Given the description of an element on the screen output the (x, y) to click on. 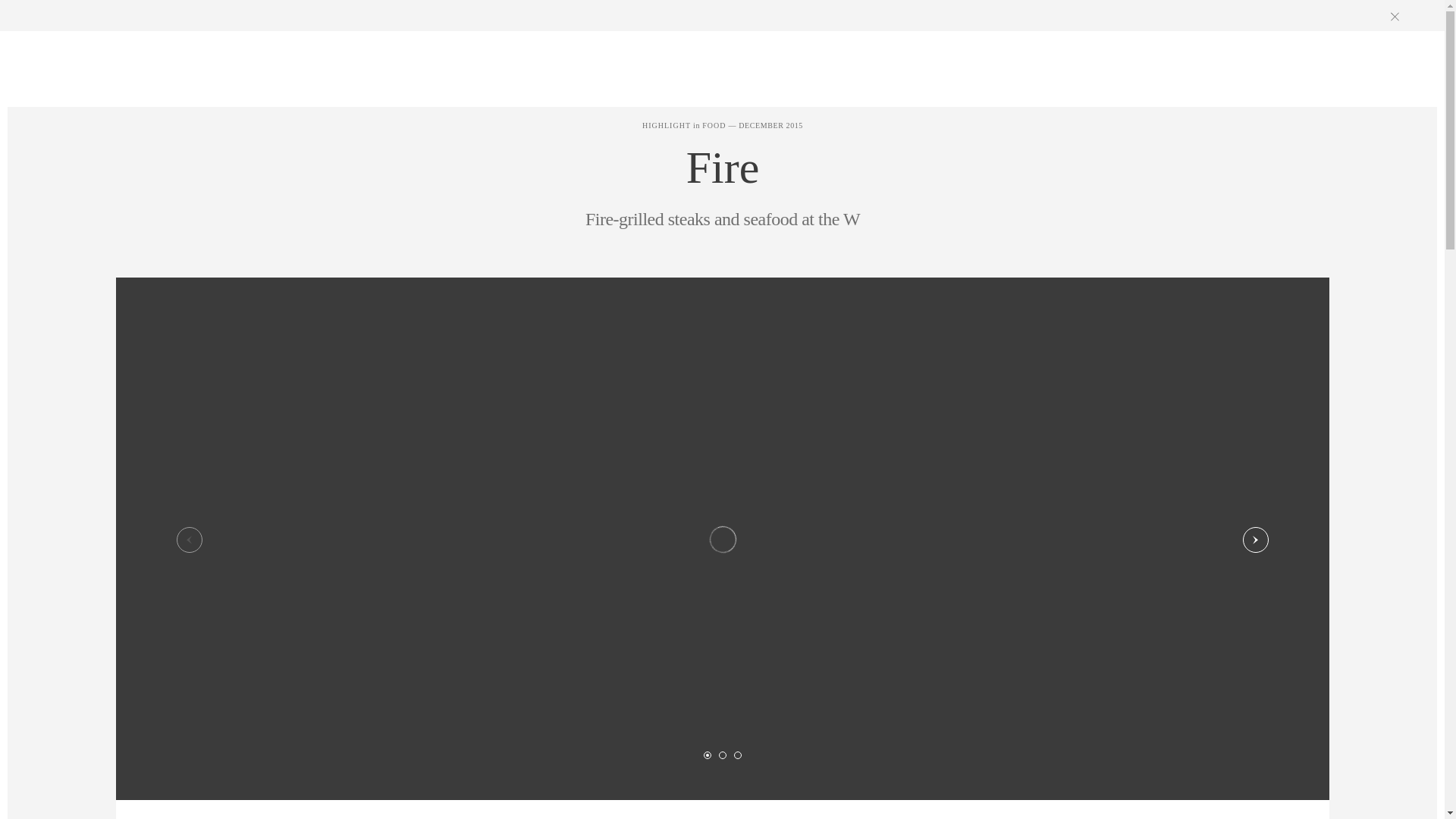
FOOD (713, 125)
HIGHLIGHT (666, 125)
